Given the description of an element on the screen output the (x, y) to click on. 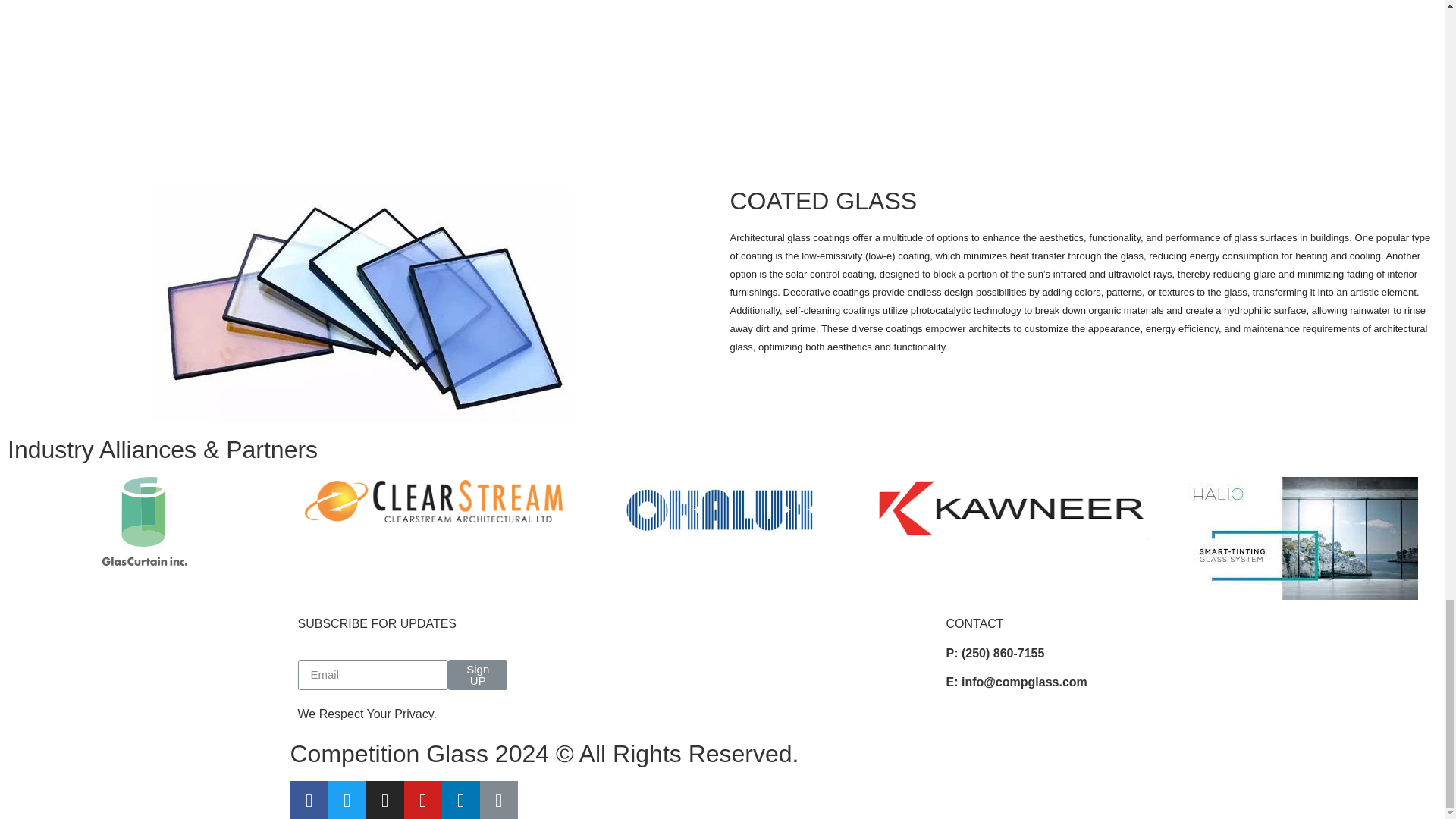
Sign UP (477, 675)
